Given the description of an element on the screen output the (x, y) to click on. 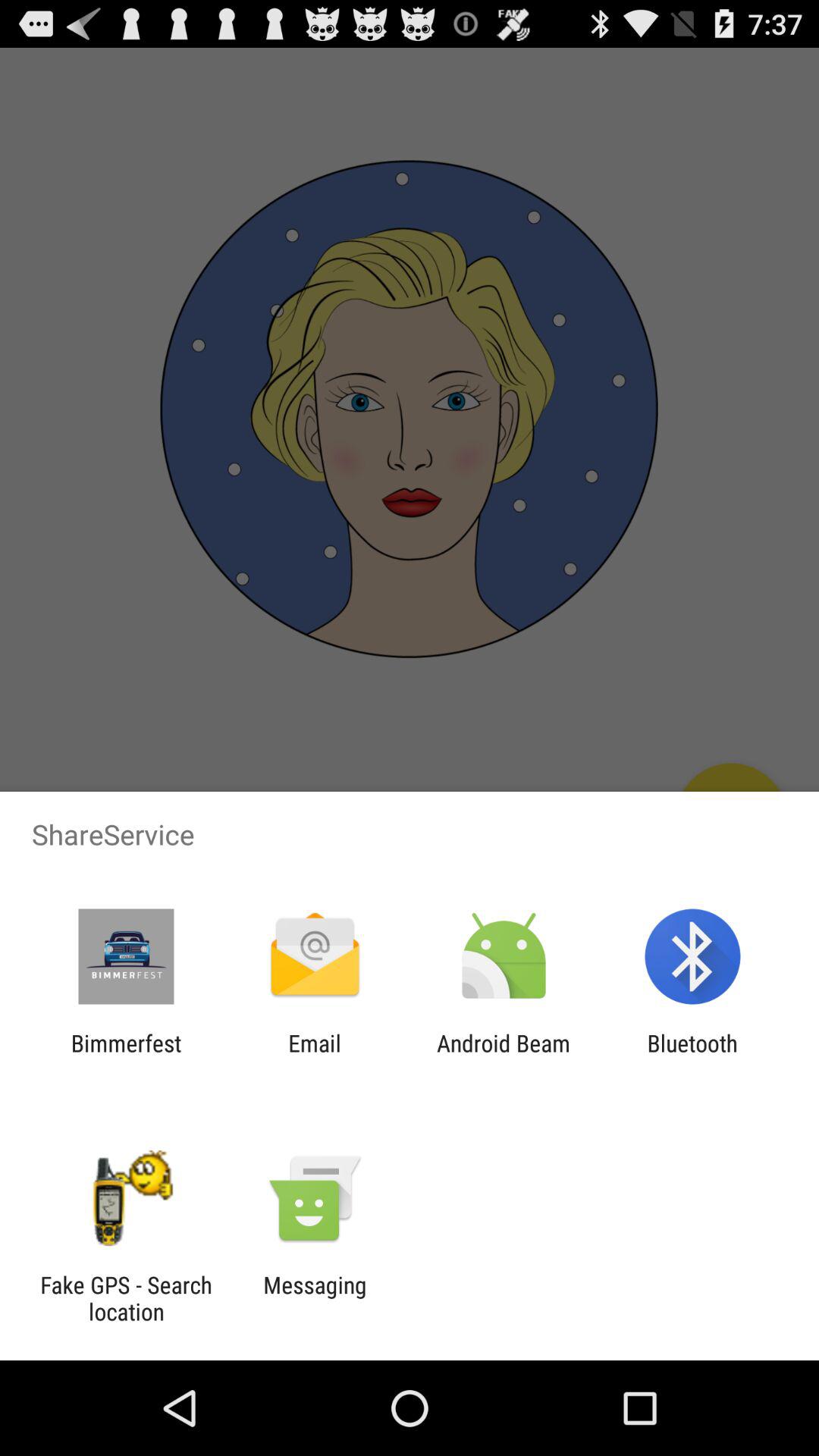
flip until messaging item (314, 1298)
